Given the description of an element on the screen output the (x, y) to click on. 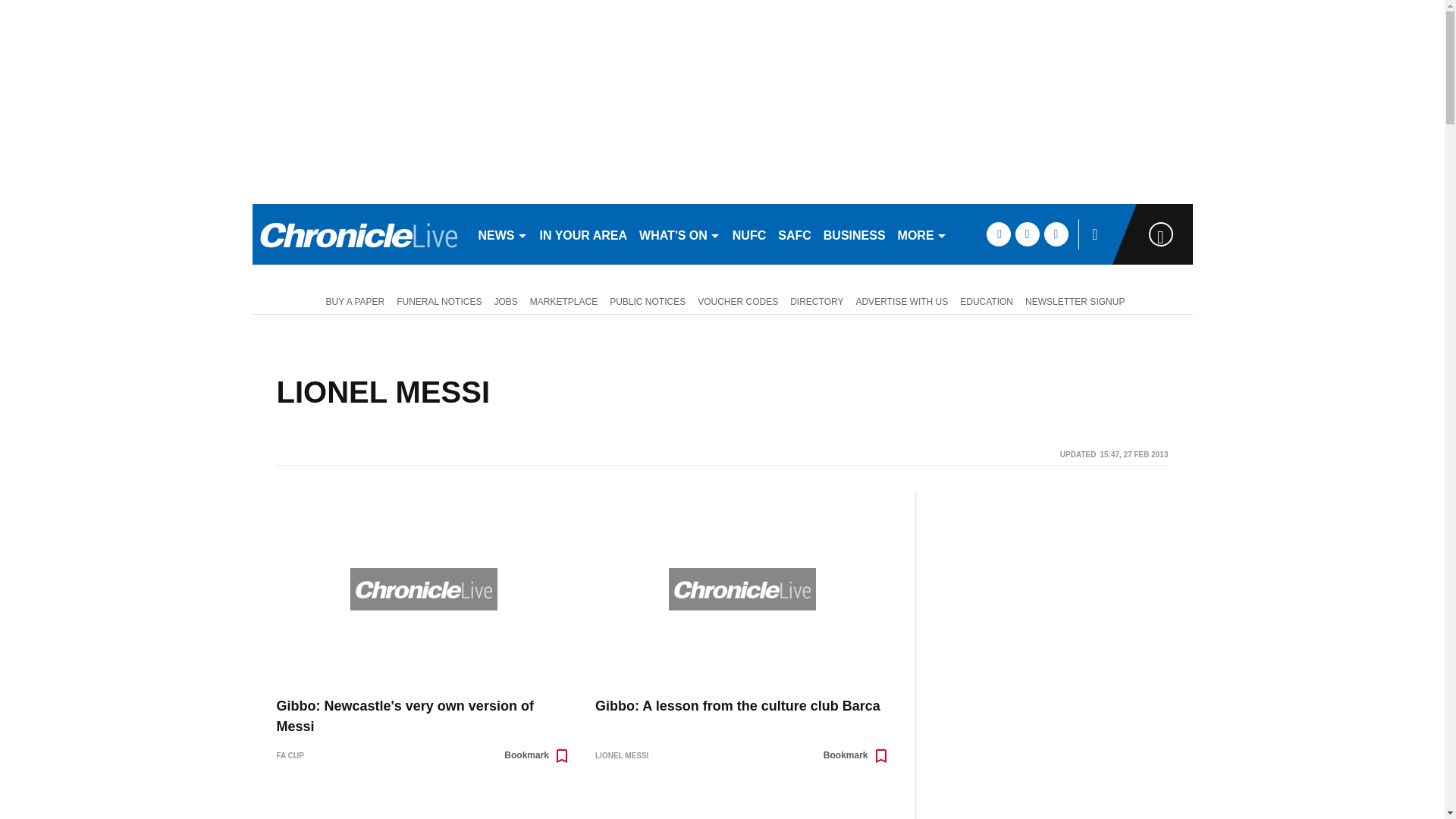
BUSINESS (853, 233)
nechronicle (357, 233)
MORE (922, 233)
NEWS (501, 233)
WHAT'S ON (679, 233)
twitter (1026, 233)
instagram (1055, 233)
facebook (997, 233)
IN YOUR AREA (583, 233)
